Given the description of an element on the screen output the (x, y) to click on. 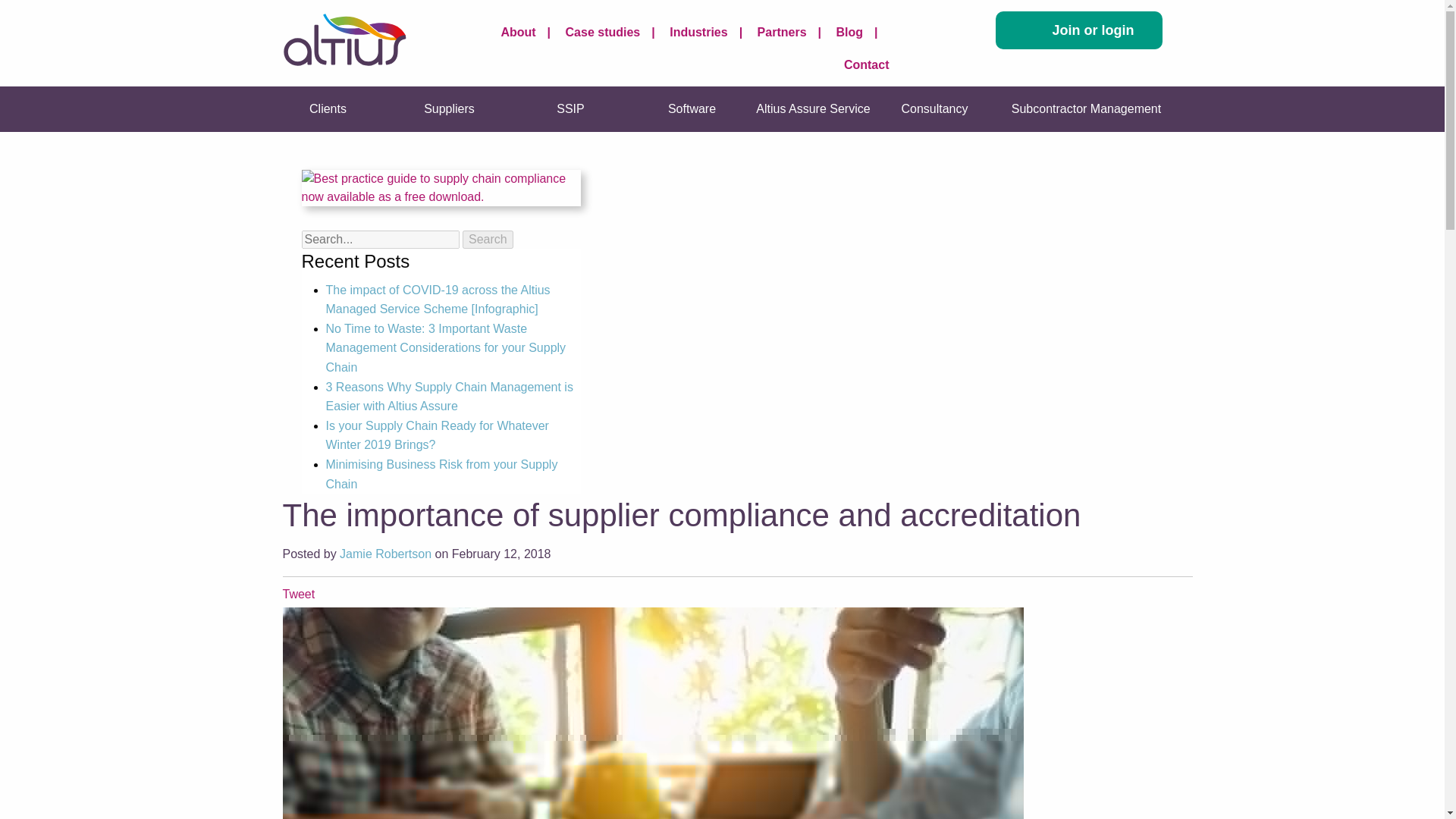
Clients (327, 108)
Partners (794, 31)
Suppliers (448, 108)
H (476, 30)
Blog (861, 31)
Join or login (1077, 30)
Altius Assure Service (812, 108)
Posts by Jamie Robertson (384, 553)
Industries (711, 31)
Subcontractor Management (1085, 108)
Search (488, 239)
Contact (866, 64)
Software (691, 108)
Search for: (380, 239)
About (531, 31)
